Given the description of an element on the screen output the (x, y) to click on. 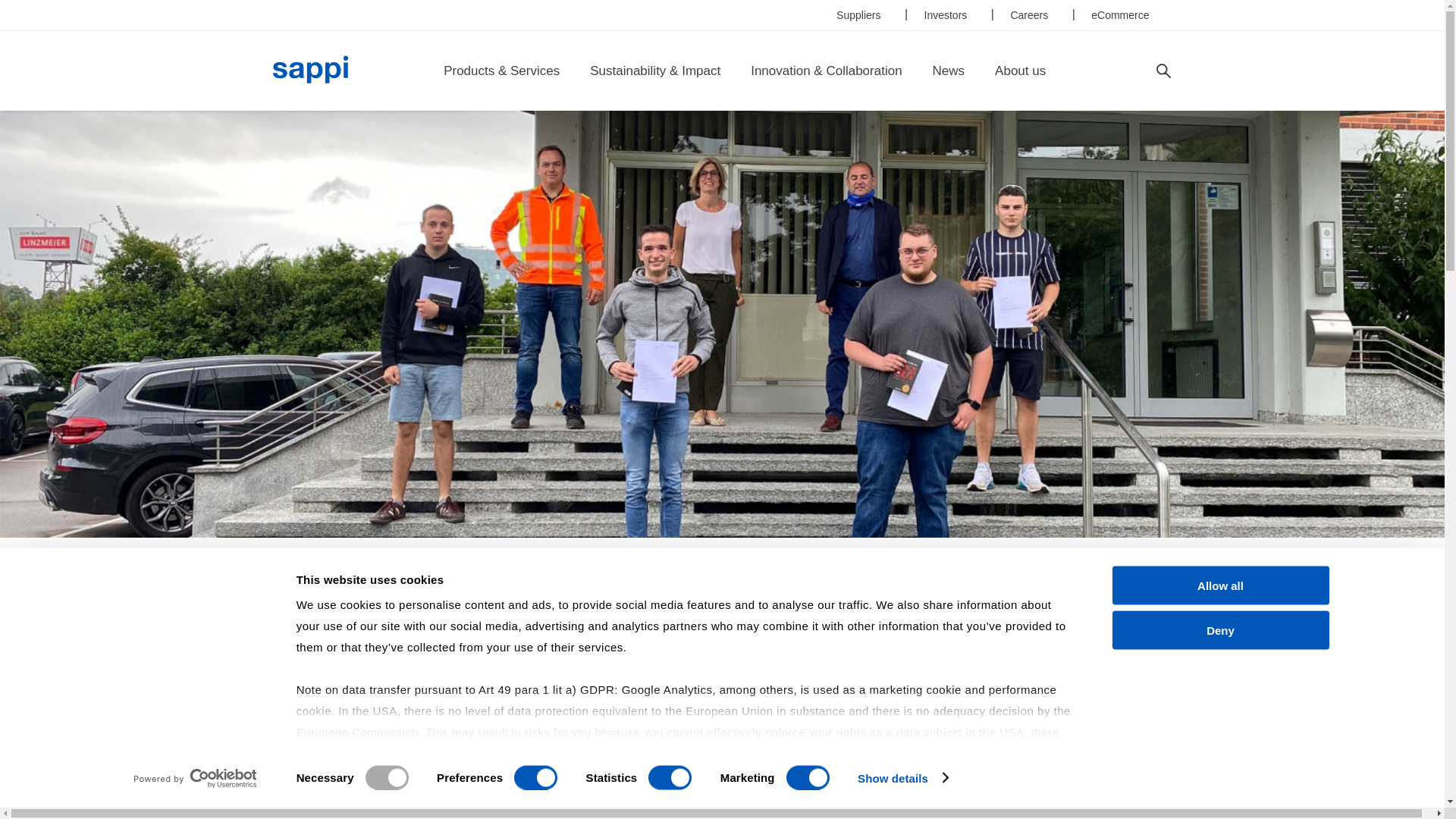
Show details (902, 777)
